Given the description of an element on the screen output the (x, y) to click on. 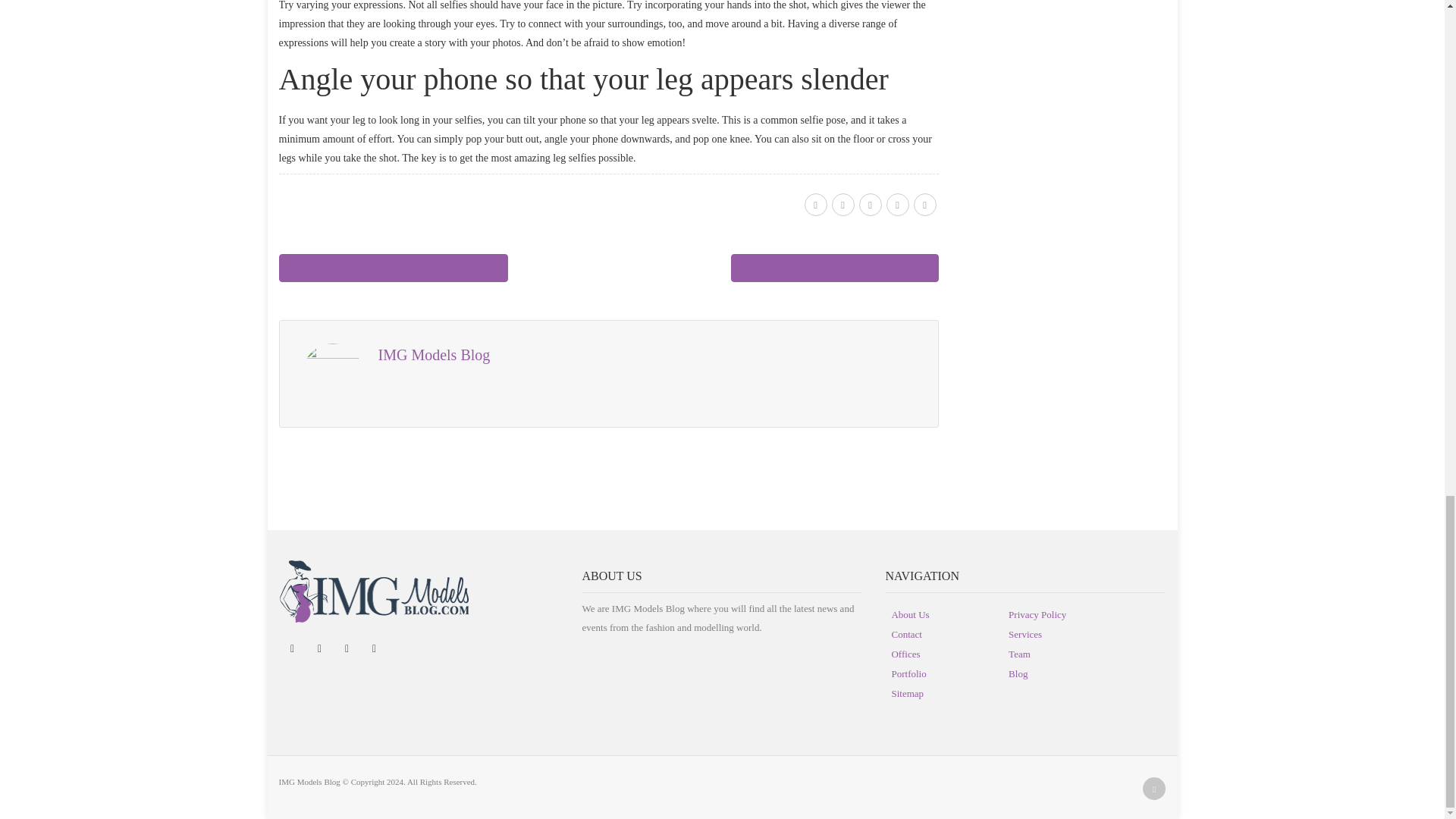
IMG Models Blog (433, 354)
Tower Crane Maintenance Requirements (834, 267)
How to Take Care of Your Boilers in Glasgow (393, 267)
